Given the description of an element on the screen output the (x, y) to click on. 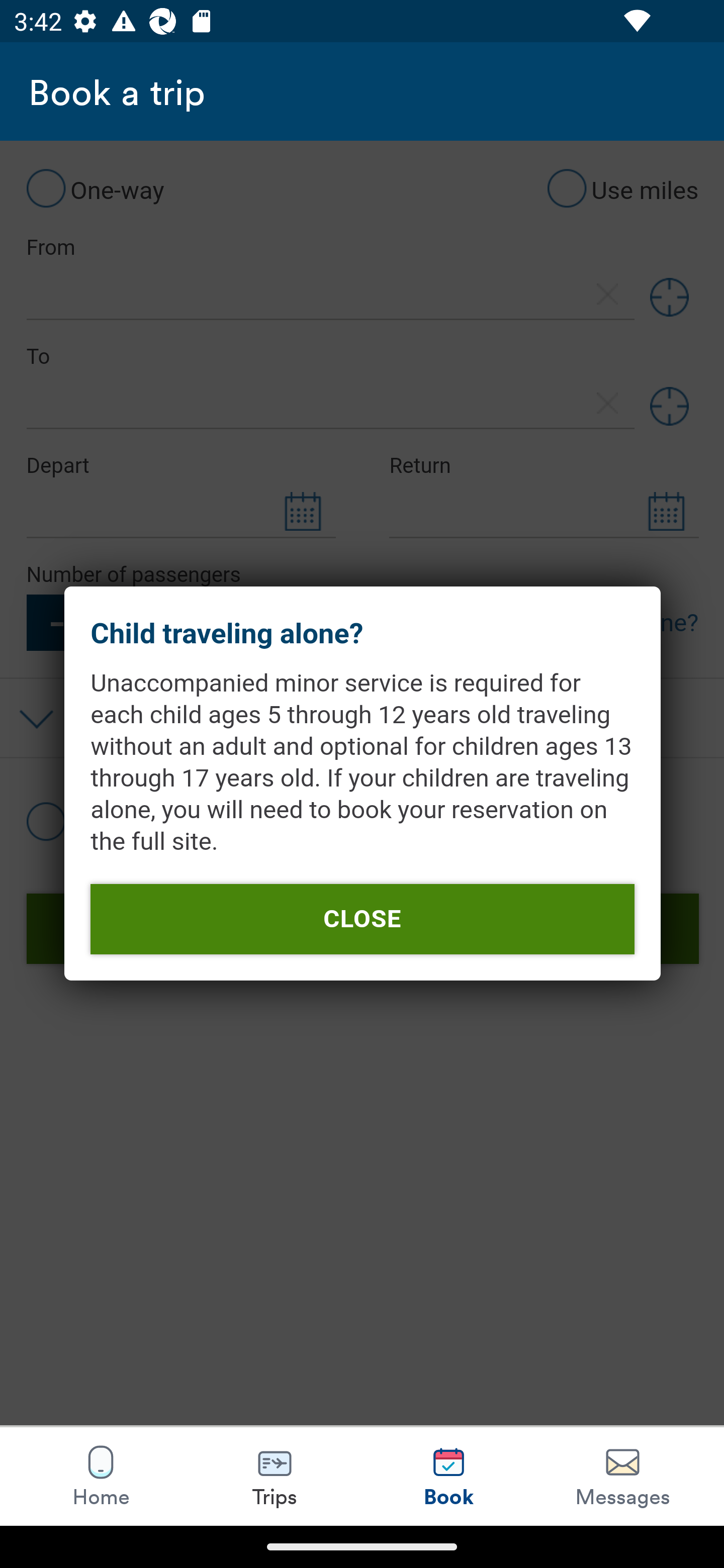
Close (361, 918)
Home (100, 1475)
Trips (275, 1475)
Book (448, 1475)
Messages (622, 1475)
